Given the description of an element on the screen output the (x, y) to click on. 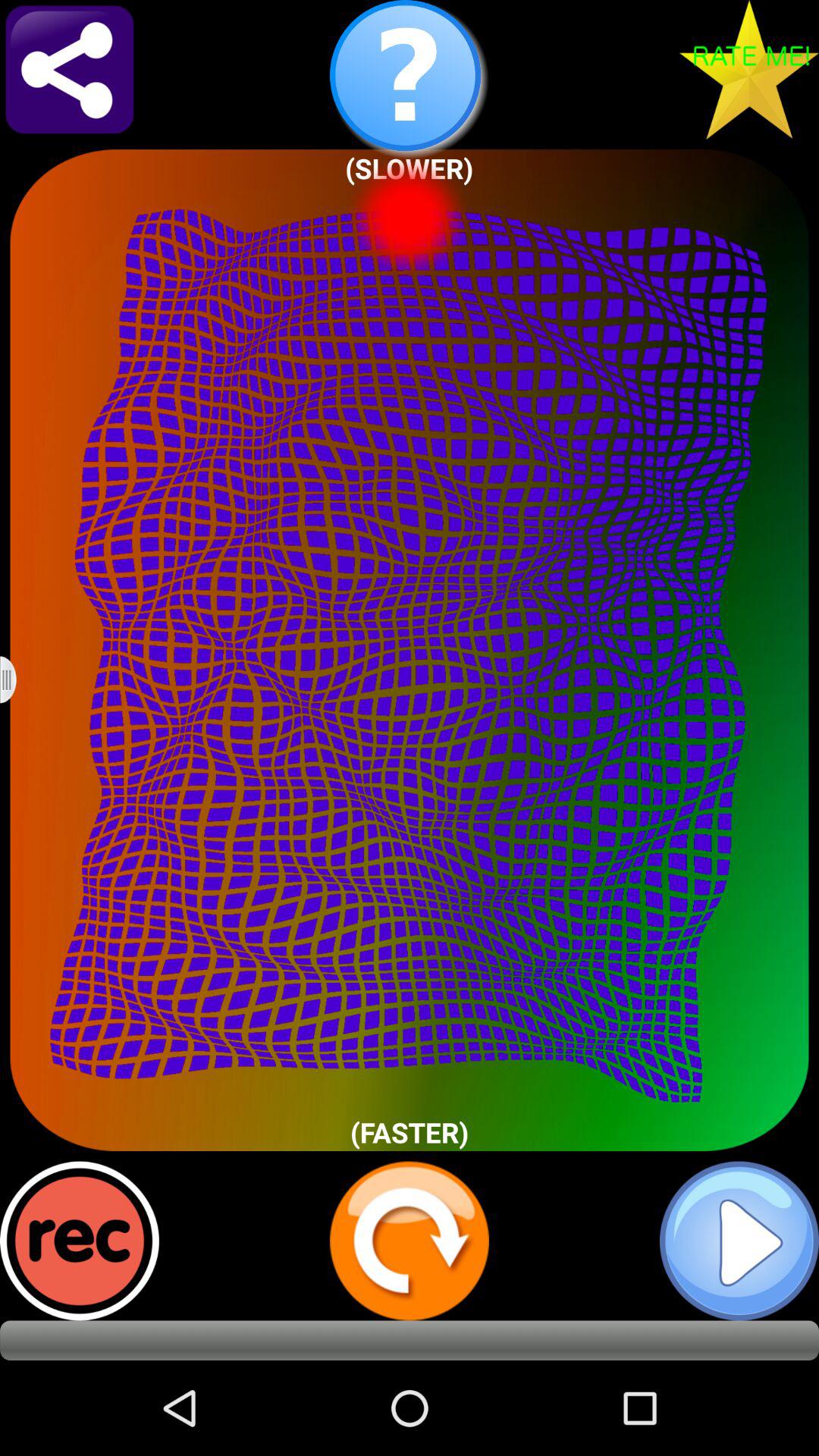
help button (409, 79)
